Given the description of an element on the screen output the (x, y) to click on. 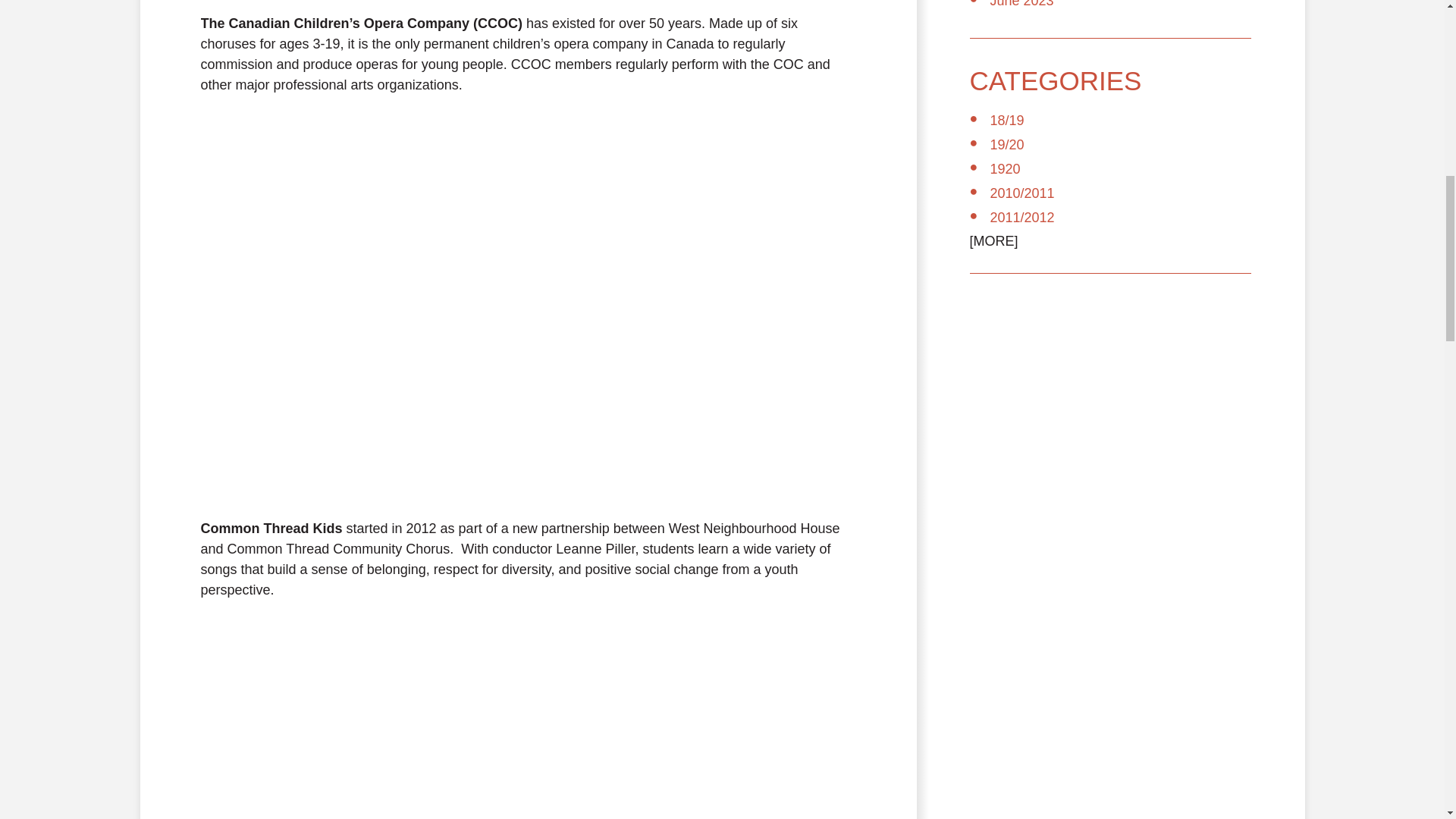
June 2023 (1022, 4)
